Given the description of an element on the screen output the (x, y) to click on. 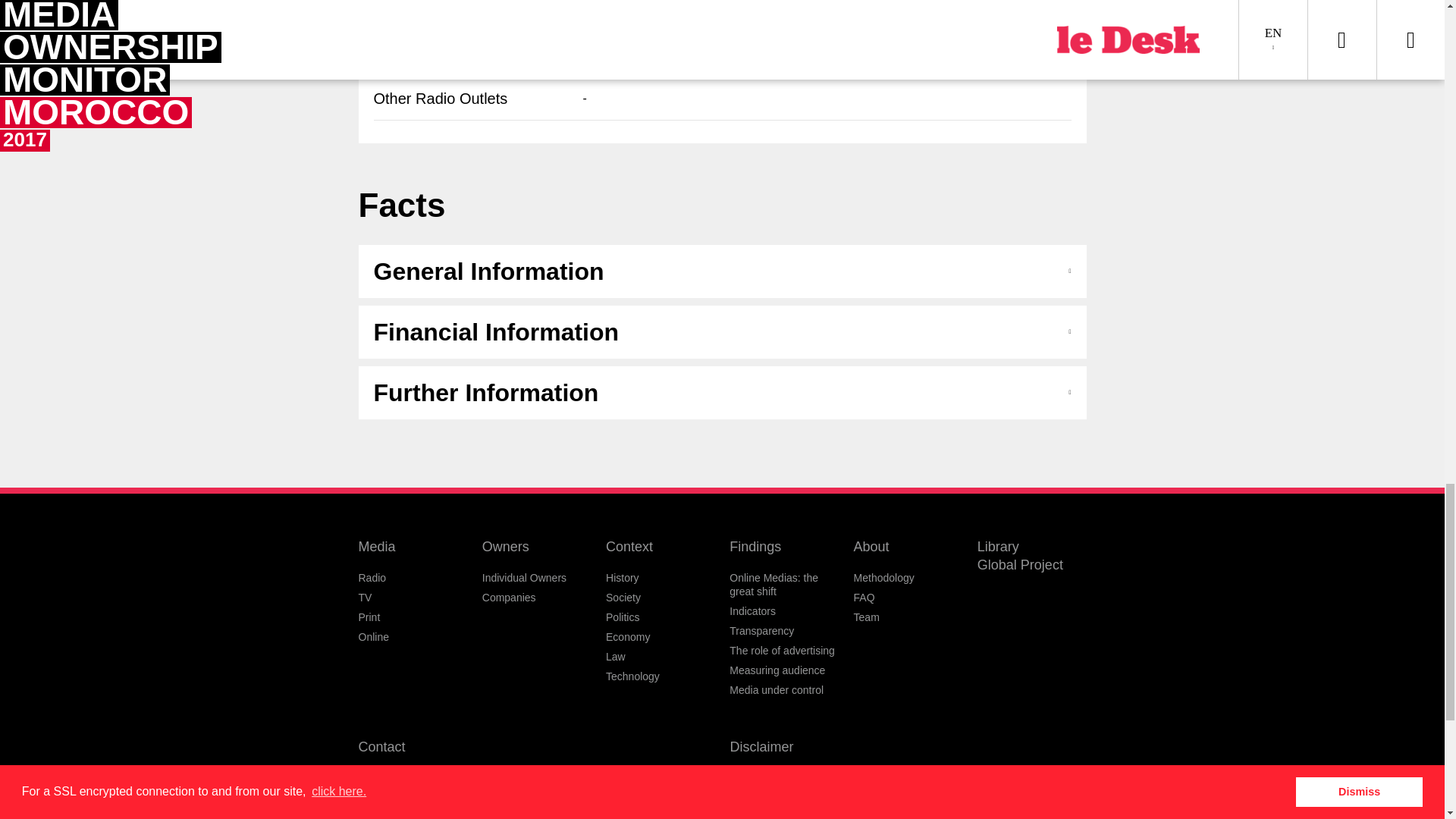
Individual Owners (523, 577)
Companies (508, 597)
Politics (622, 616)
TV (364, 597)
Radio (371, 577)
Owners (505, 546)
Print (369, 616)
Economy (627, 636)
Online (373, 636)
Indicators (752, 611)
Findings (754, 546)
Society (622, 597)
Technology (632, 676)
Media (376, 546)
The role of advertising (781, 650)
